Given the description of an element on the screen output the (x, y) to click on. 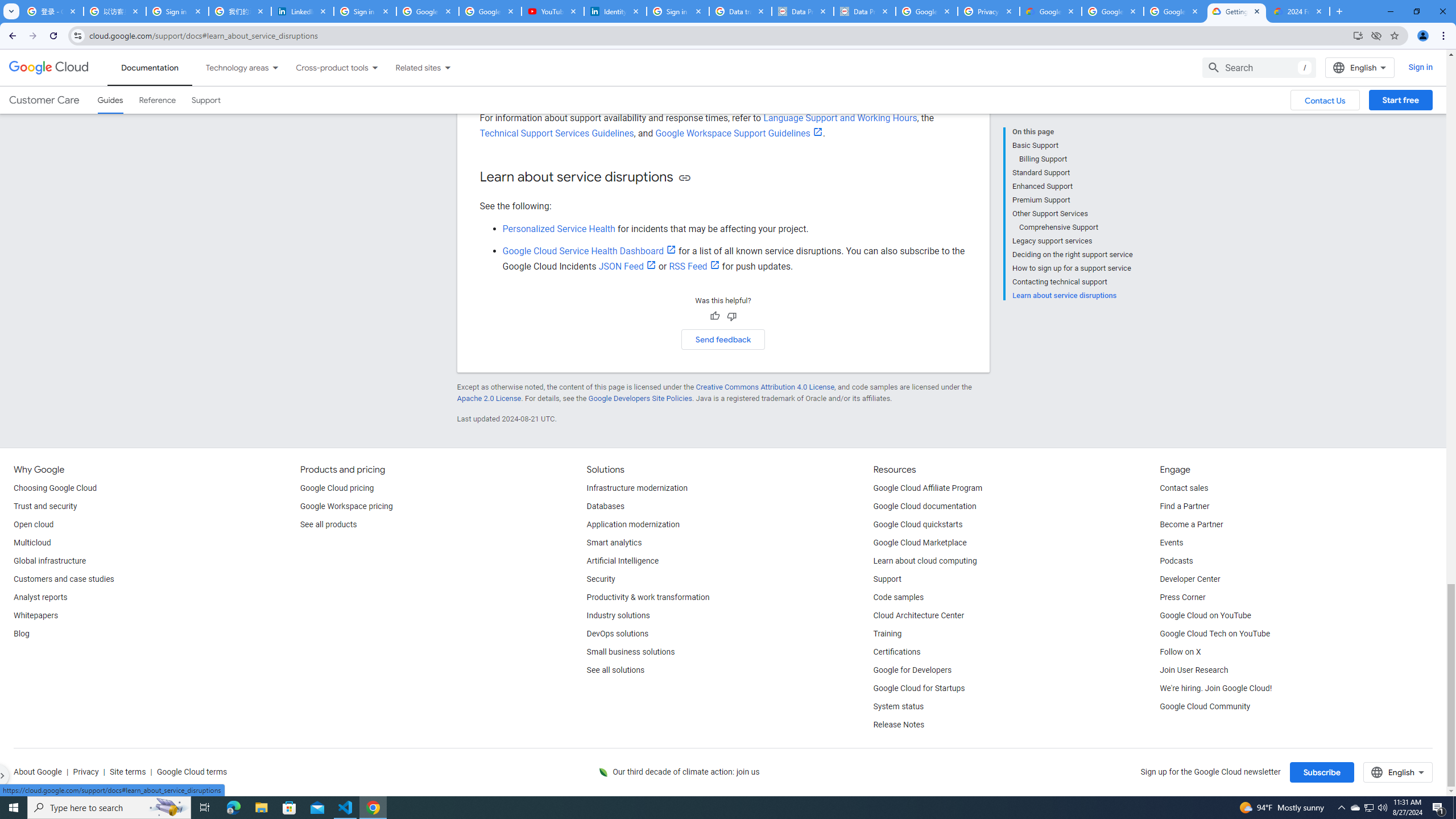
Creative Commons Attribution 4.0 License (764, 386)
Send feedback (723, 339)
Google Workspace Support Guidelines (738, 132)
Global infrastructure (49, 561)
LinkedIn Privacy Policy (302, 11)
Technology areas (230, 67)
Join User Research (1193, 670)
Google Cloud Service Health Dashboard (588, 250)
Whitepapers (35, 615)
